Given the description of an element on the screen output the (x, y) to click on. 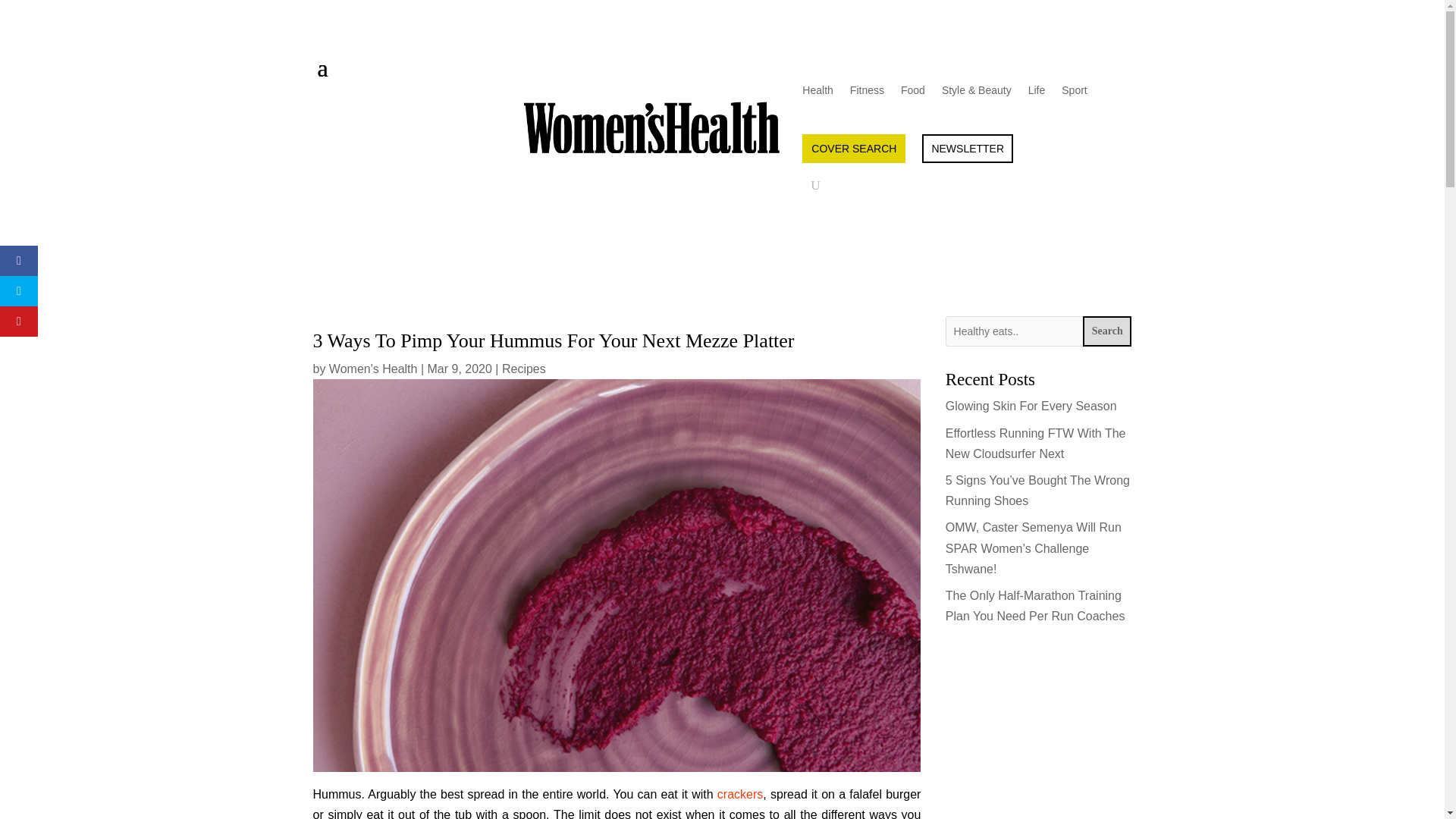
Posts by Women's Health (373, 368)
